Given the description of an element on the screen output the (x, y) to click on. 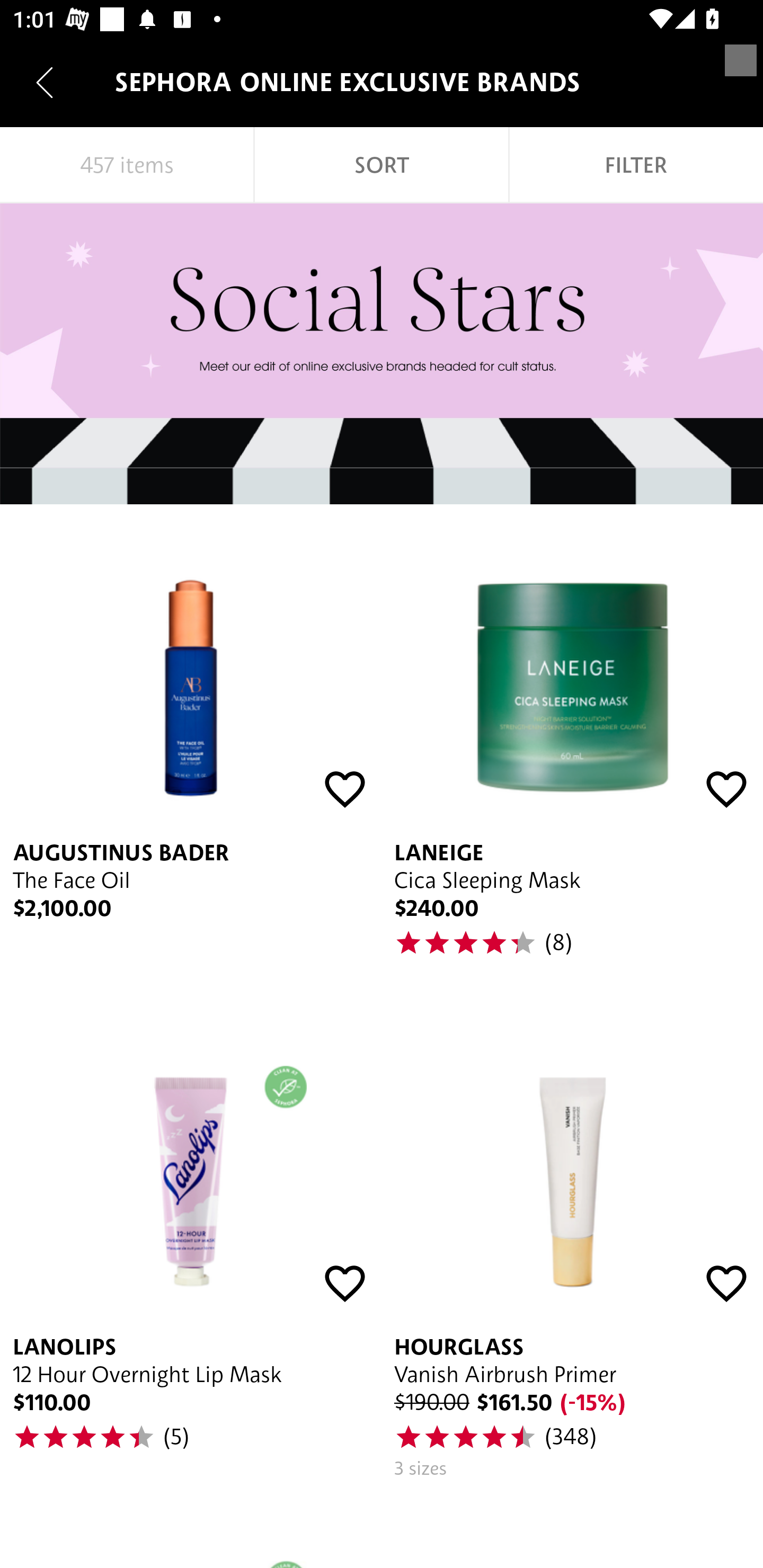
Navigate up (44, 82)
SORT (381, 165)
FILTER (636, 165)
AUGUSTINUS BADER The Face Oil $2,100.00 (190, 751)
LANEIGE Cica Sleeping Mask $240.00 43.0 (8) (572, 751)
